Given the description of an element on the screen output the (x, y) to click on. 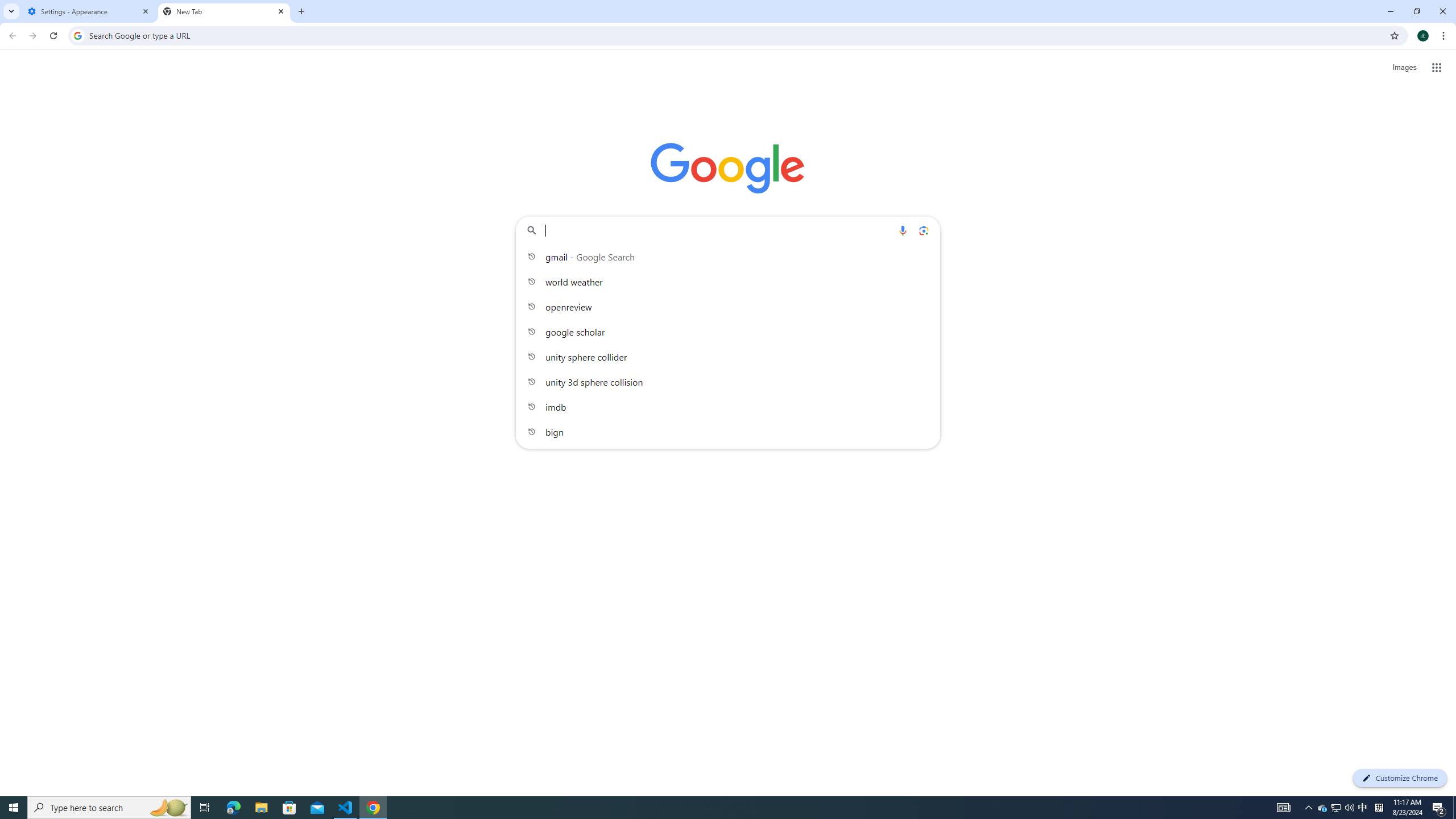
New Tab (224, 11)
Web Store (792, 285)
